Given the description of an element on the screen output the (x, y) to click on. 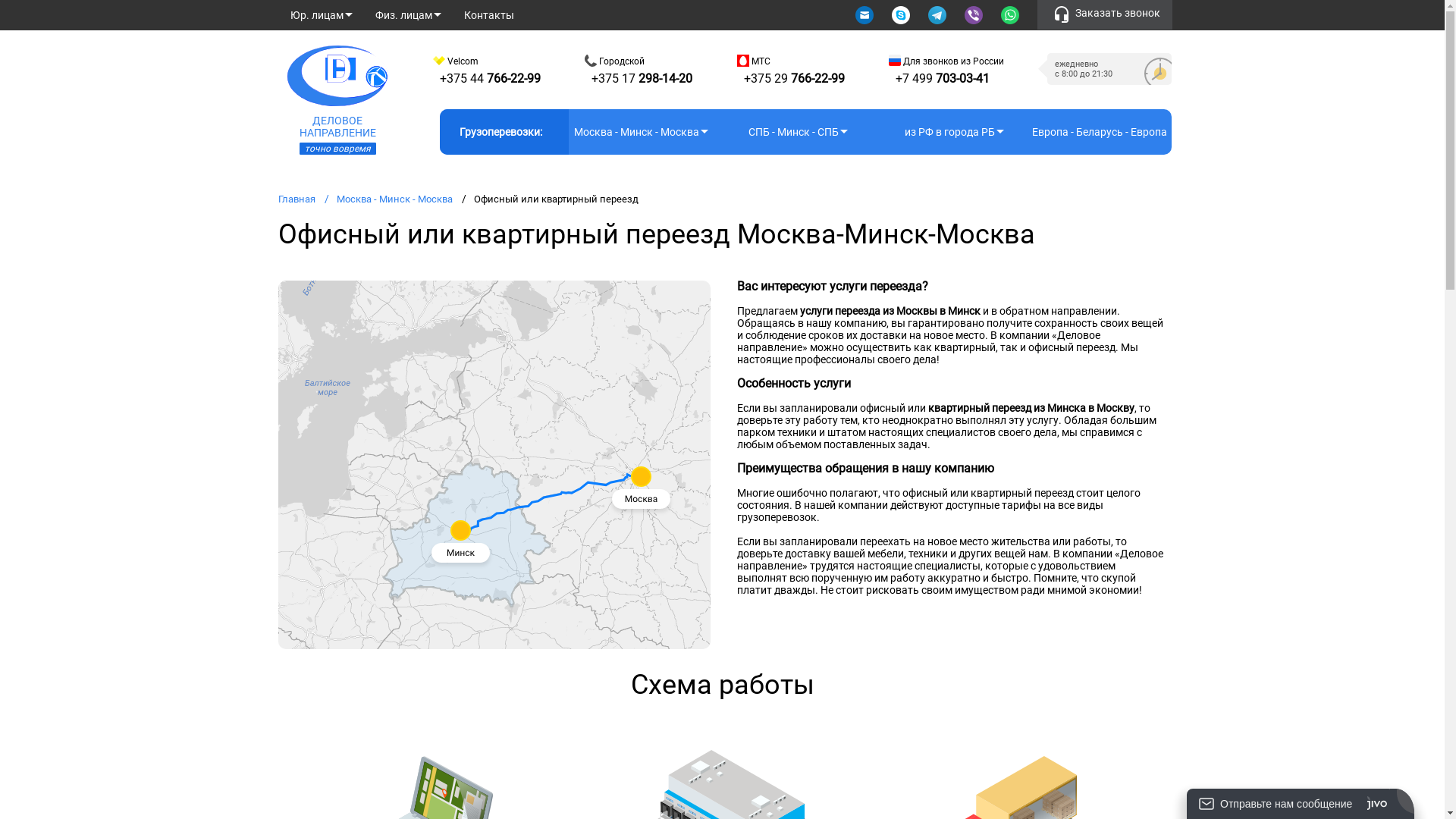
+375 44 766-22-99 Element type: text (489, 78)
+375 29 766-22-99 Element type: text (793, 78)
+375 44 766-22-99 Element type: text (458, 11)
+375 17 298-14-20 Element type: text (636, 11)
Skype Element type: hover (901, 15)
Telegram Element type: hover (938, 15)
Mail Element type: hover (865, 15)
WhatsApp Element type: hover (1011, 15)
+375 29 766-22-99 Element type: text (813, 11)
+7 499 703-03-41 Element type: text (942, 78)
+7 499 703-03-41 Element type: text (989, 11)
Viber Element type: hover (974, 15)
+375 17 298-14-20 Element type: text (641, 78)
